Given the description of an element on the screen output the (x, y) to click on. 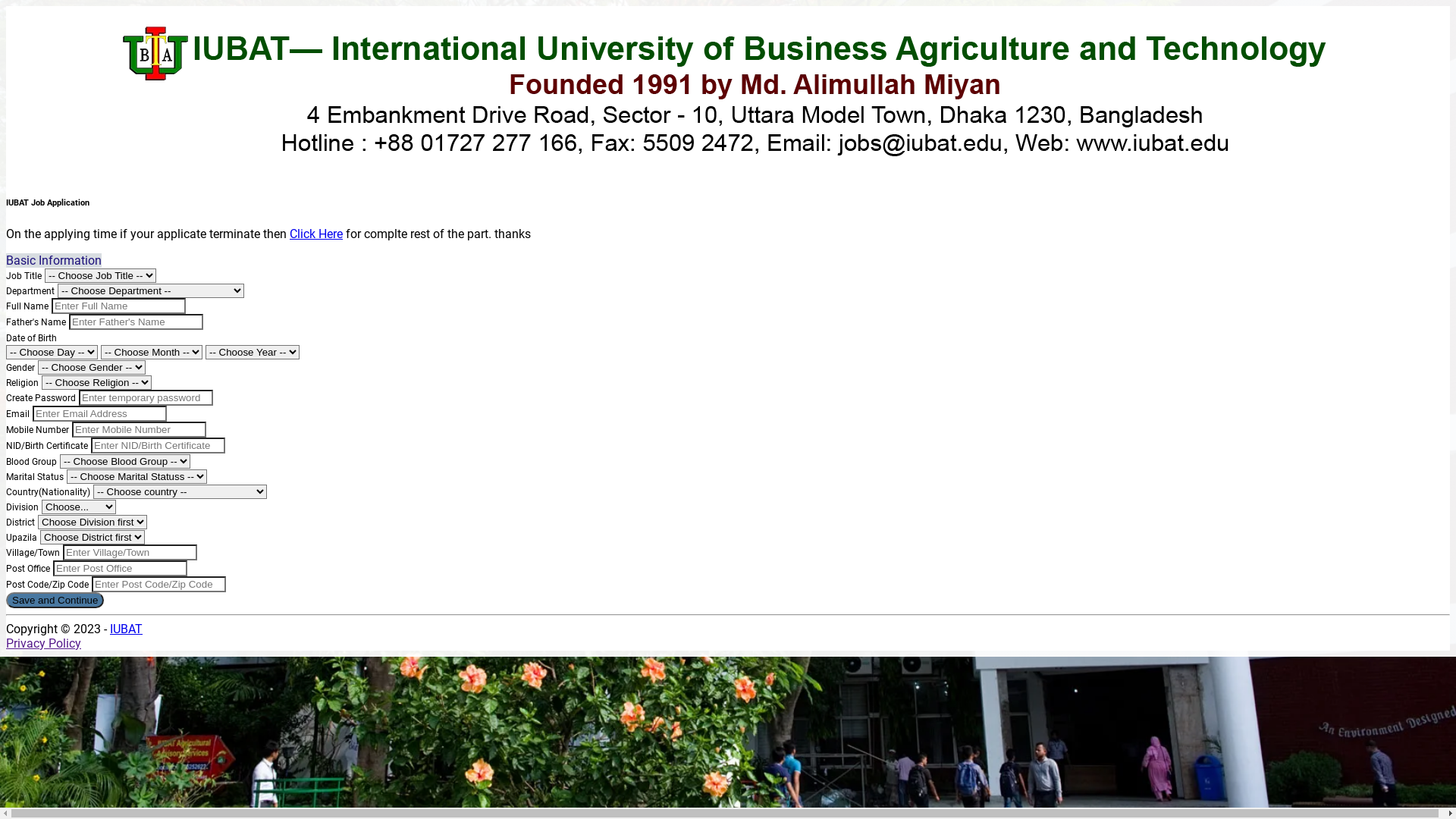
IUBAT Element type: text (125, 628)
Save and Continue Element type: text (54, 600)
Privacy Policy Element type: text (43, 643)
Click Here Element type: text (315, 233)
